Given the description of an element on the screen output the (x, y) to click on. 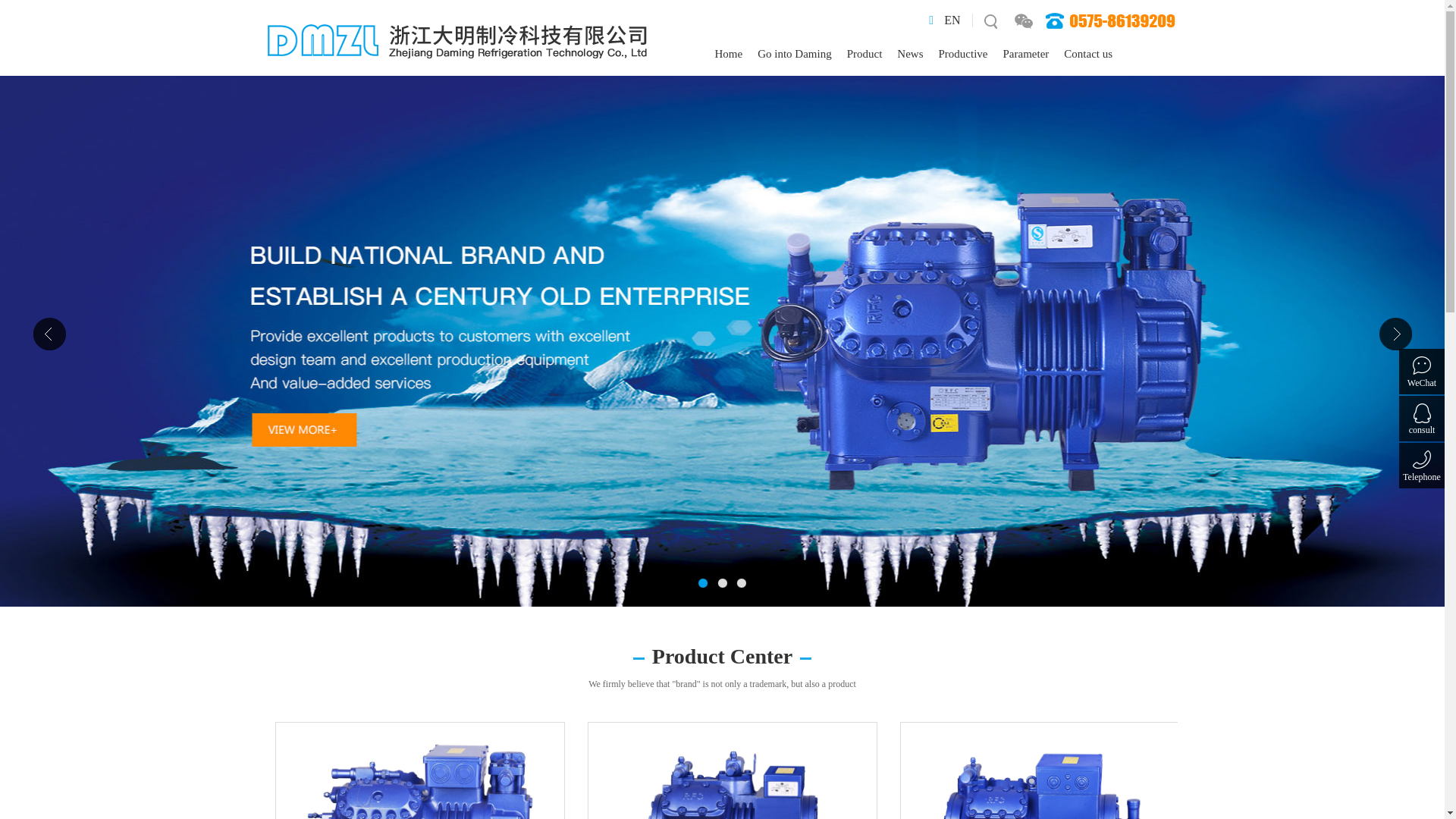
Go into Daming Element type: text (794, 54)
1 Element type: text (703, 582)
2 Element type: text (722, 582)
3 Element type: text (740, 582)
Contact us Element type: text (1087, 54)
News Element type: text (909, 54)
Product Element type: text (864, 54)
Parameter Element type: text (1026, 54)
Productive Element type: text (963, 54)
Home Element type: text (728, 54)
EN Element type: text (951, 19)
